Given the description of an element on the screen output the (x, y) to click on. 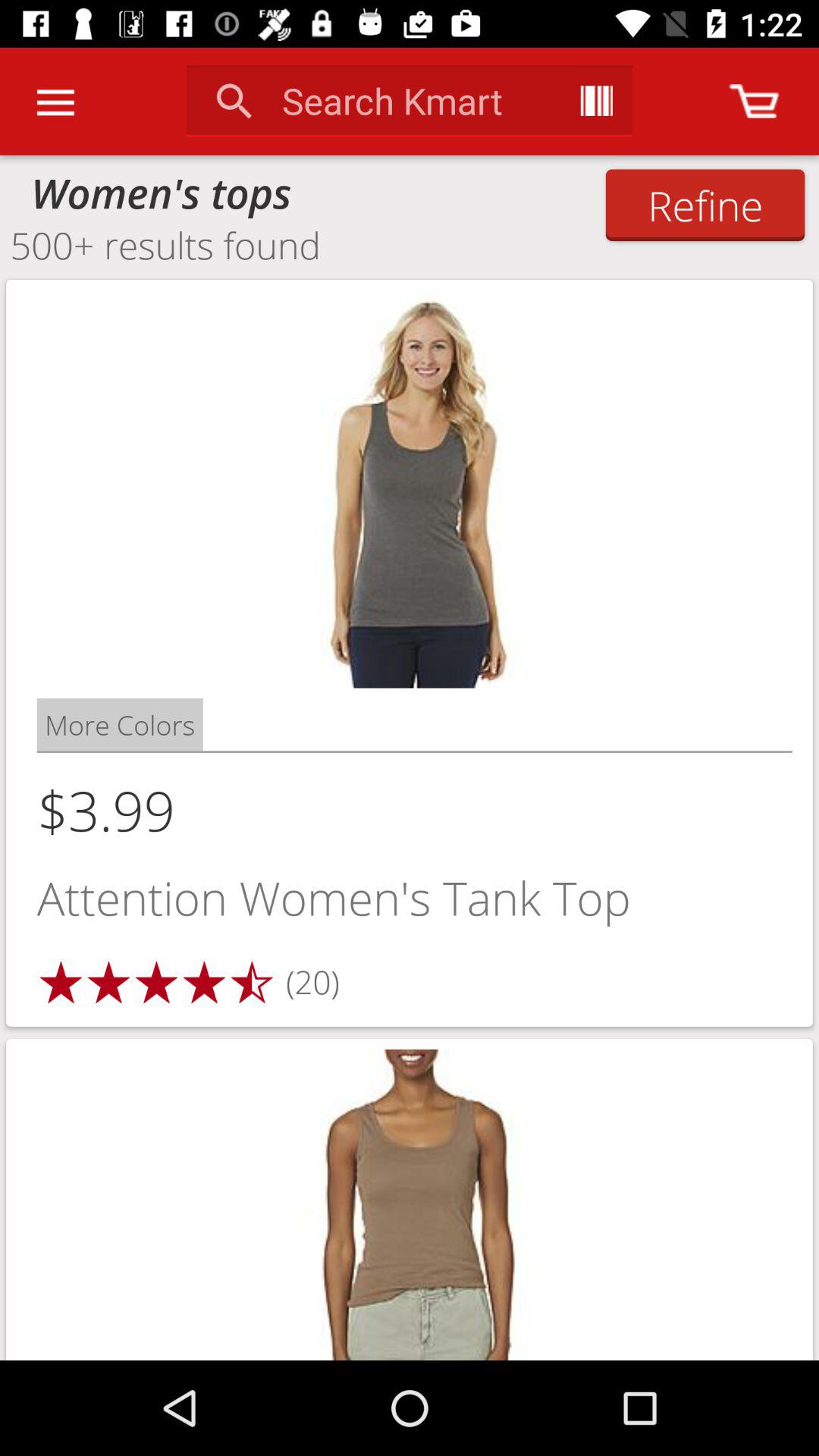
select the app next to the search kmart icon (596, 100)
